Given the description of an element on the screen output the (x, y) to click on. 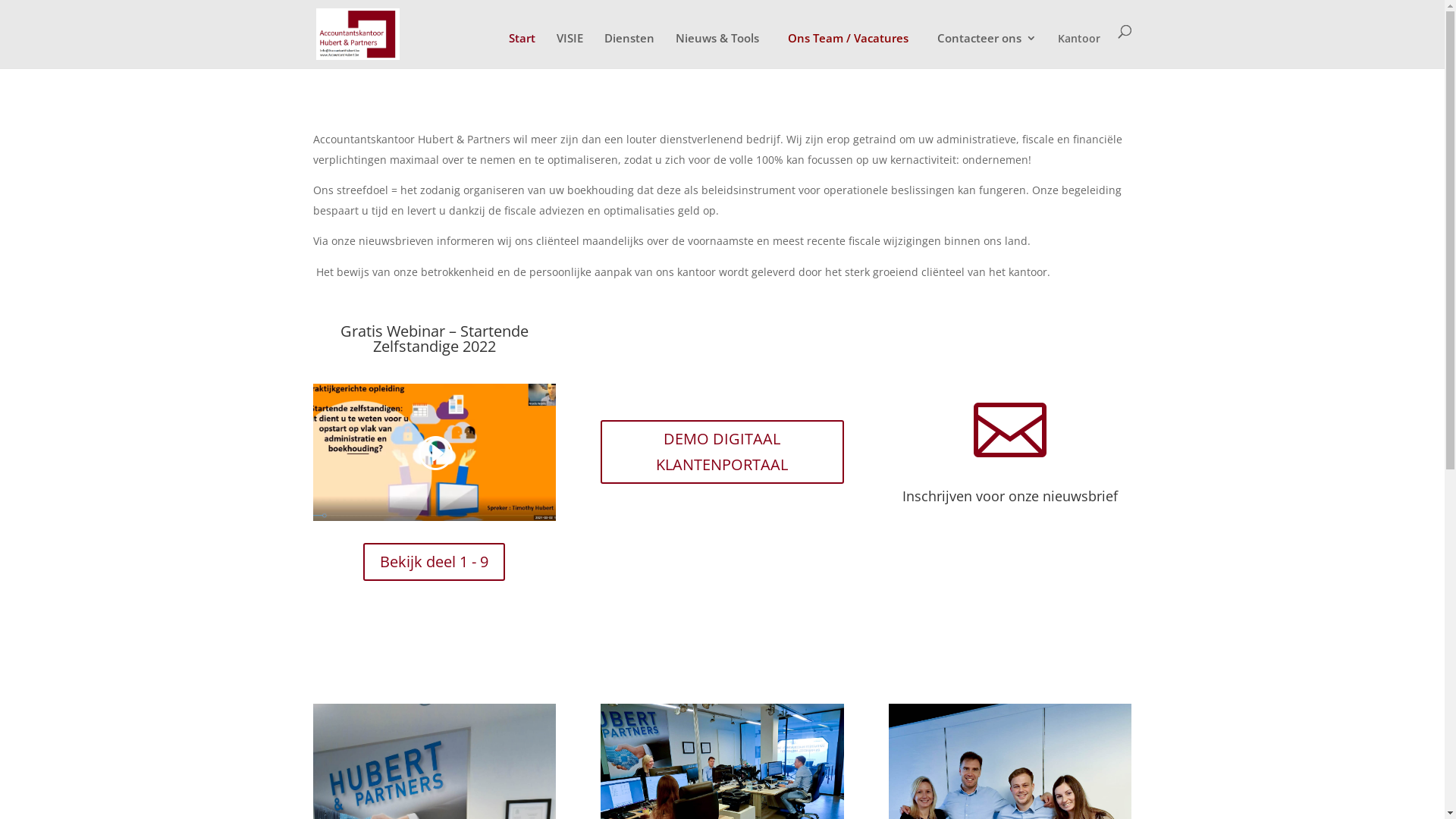
Ons Team / Vacatures Element type: text (847, 37)
Contacteer ons Element type: text (986, 50)
DEMO DIGITAAL KLANTENPORTAAL Element type: text (721, 451)
VISIE Element type: text (569, 50)
Start Element type: text (521, 50)
Inschrijven voor onze nieuwsbrief Element type: text (1009, 495)
Nieuws & Tools Element type: text (716, 50)
Diensten Element type: text (628, 50)
Bekijk deel 1 - 9 Element type: text (434, 561)
